Given the description of an element on the screen output the (x, y) to click on. 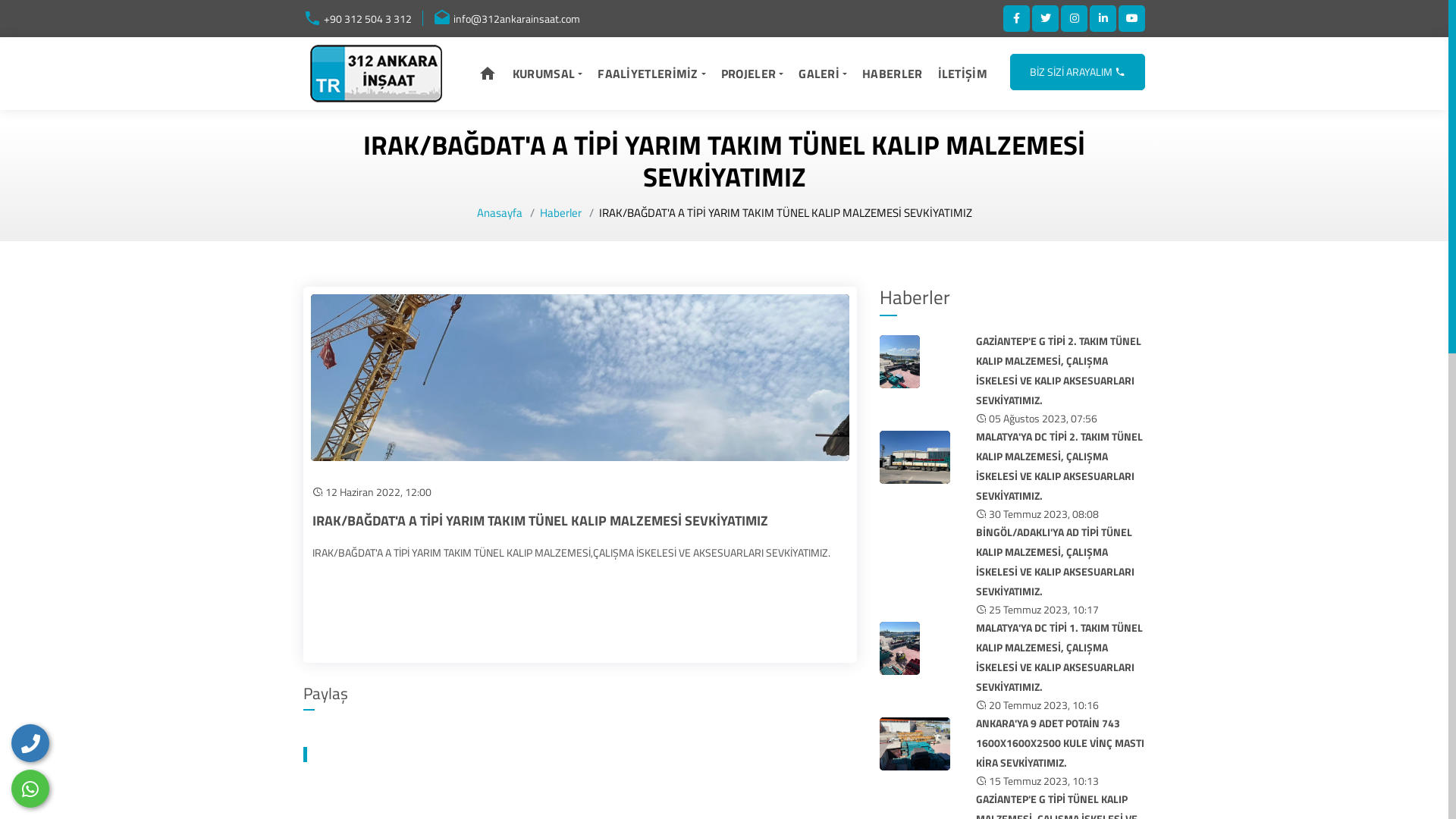
telegram Element type: hover (1045, 18)
KURUMSAL Element type: text (547, 73)
youtube Element type: hover (1131, 18)
Anasayfa Element type: text (498, 212)
instagram Element type: hover (1073, 18)
facebook Element type: hover (1016, 18)
Haberler Element type: text (560, 212)
Telefon Element type: hover (30, 743)
+90 312 504 3 312 Element type: text (357, 19)
HABERLER Element type: text (891, 73)
WhatsApp Element type: hover (30, 788)
info@312ankarainsaat.com Element type: text (506, 19)
linkedin Element type: hover (1102, 18)
PROJELER Element type: text (751, 73)
Haberler Element type: text (914, 299)
